Given the description of an element on the screen output the (x, y) to click on. 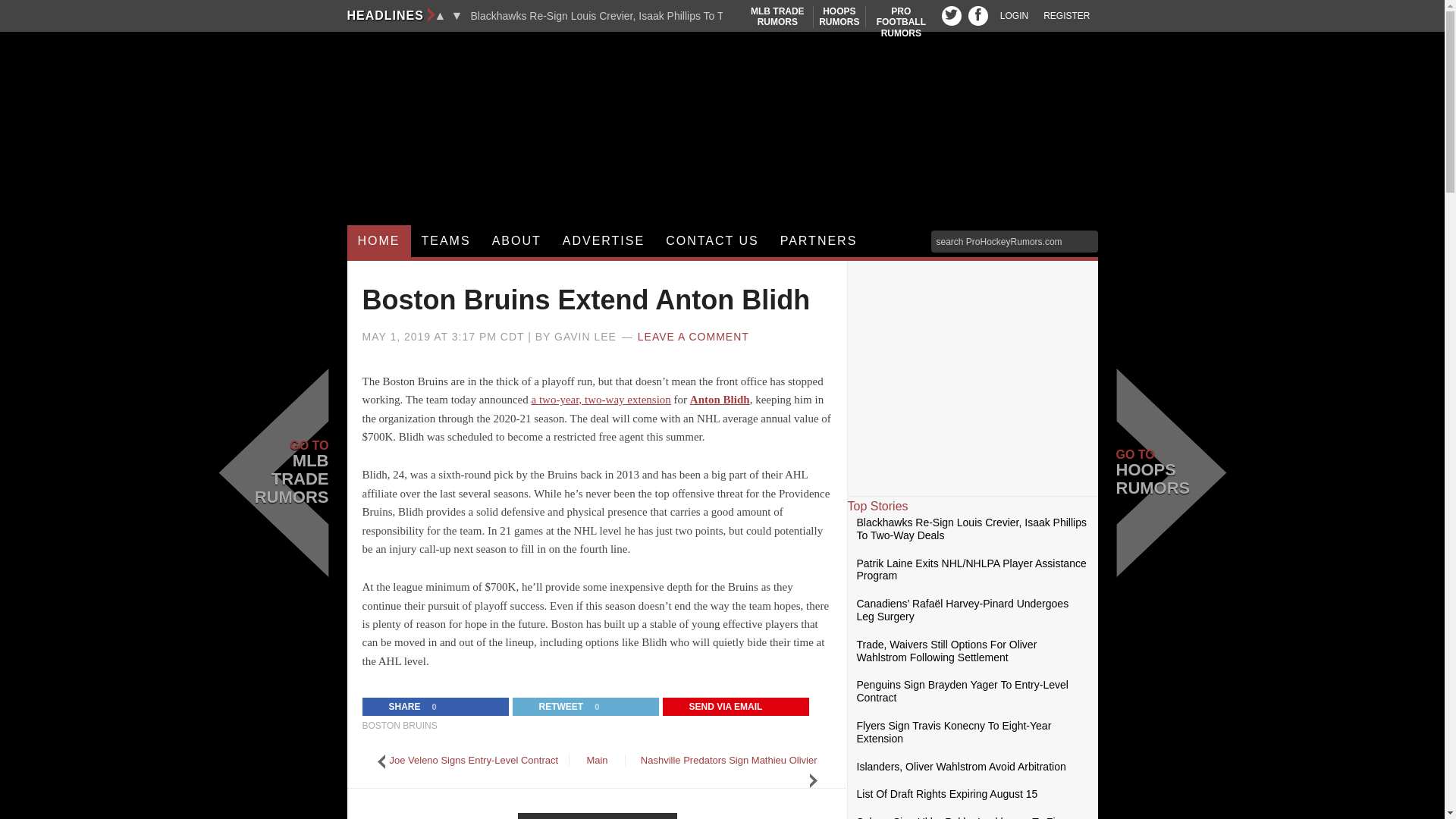
Twitter profile (951, 15)
Send Boston Bruins Extend Anton Blidh with an email (716, 706)
Share 'Boston Bruins Extend Anton Blidh' on Facebook (395, 706)
Next (456, 15)
HOME (378, 241)
REGISTER (1066, 15)
Search (901, 21)
Previous (838, 16)
LOGIN (722, 84)
FB profile (439, 15)
TEAMS (1013, 15)
